Given the description of an element on the screen output the (x, y) to click on. 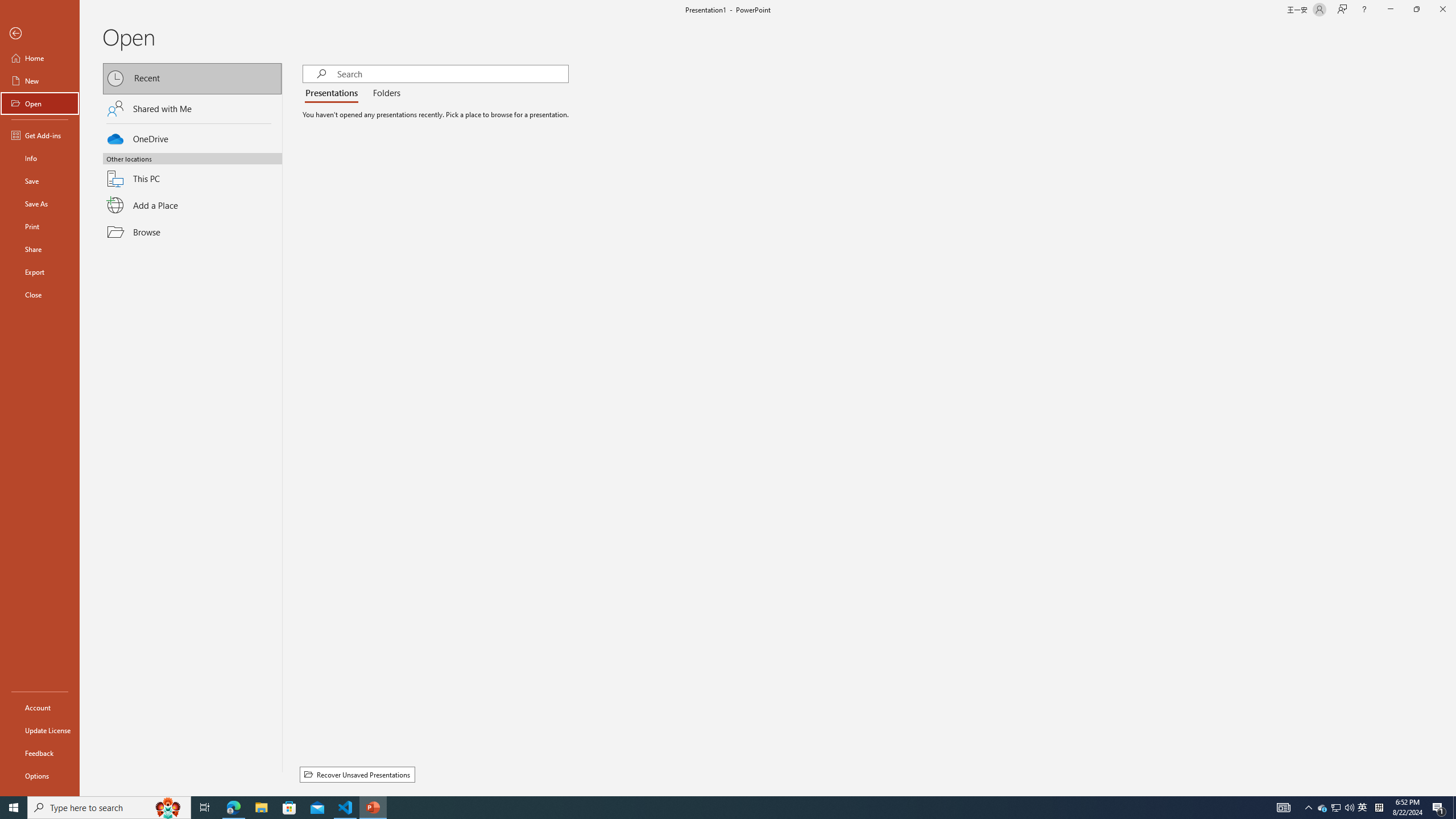
Folders (384, 93)
Recent (192, 78)
Back (40, 33)
Export (40, 271)
Update License (40, 730)
Options (40, 775)
OneDrive (192, 136)
